Given the description of an element on the screen output the (x, y) to click on. 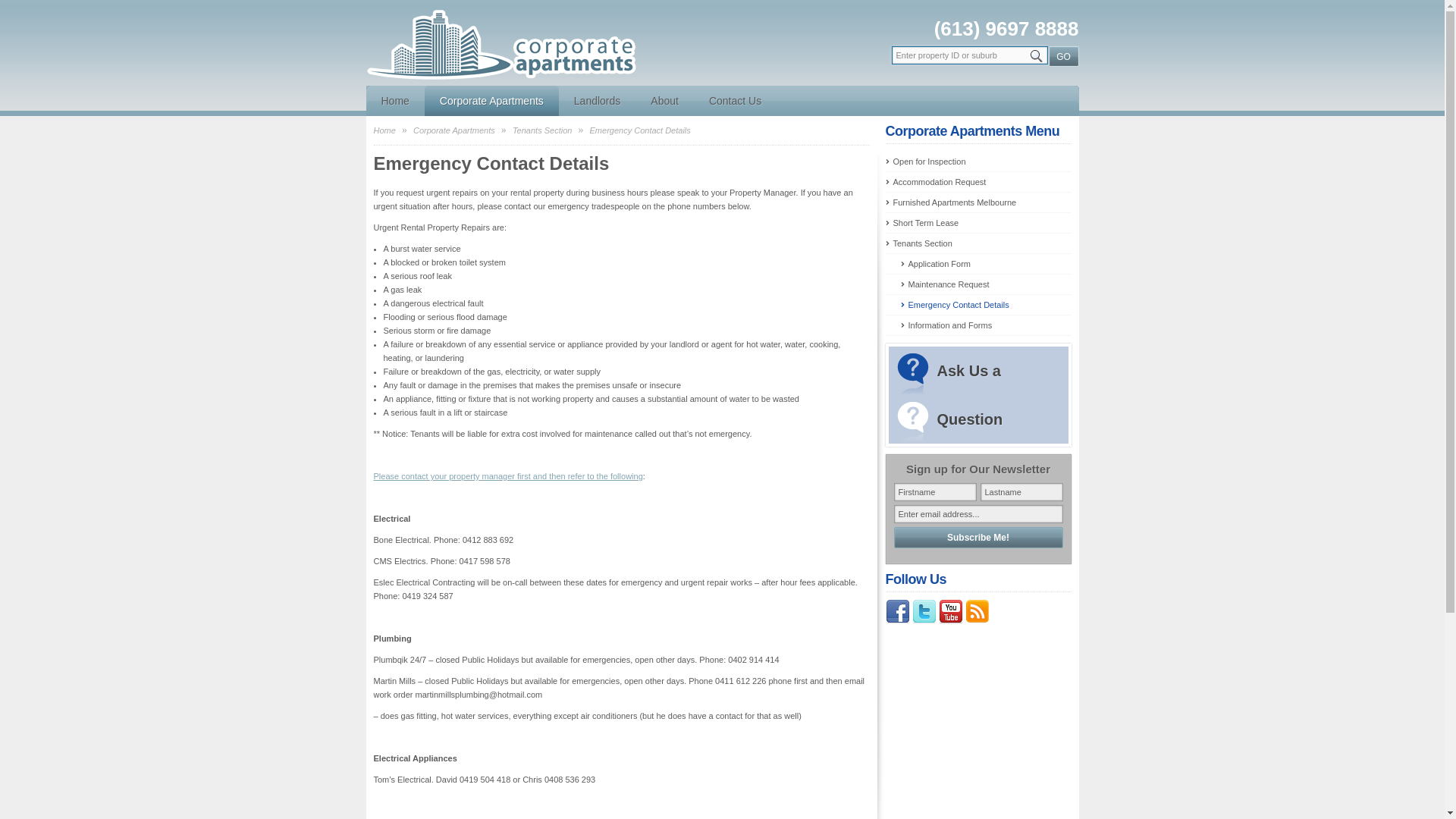
Firstname Element type: text (934, 492)
GO Element type: text (1063, 56)
Short Term Lease Element type: text (978, 222)
Application Form Element type: text (985, 263)
Subscribe Me! Element type: text (977, 537)
Tenants Section Element type: text (978, 243)
Open for Inspection Element type: text (978, 161)
Maintenance Request Element type: text (985, 284)
Corporate Apartments Element type: text (454, 129)
About Element type: text (664, 100)
Furnished Apartments Melbourne Element type: text (978, 202)
Ask Us a Question Element type: text (978, 394)
Corporate Apartments - Melbourne Corporate Leasing Element type: hover (502, 79)
Contact Us Element type: text (734, 100)
Corporate Apartments Element type: text (491, 100)
Information and Forms Element type: text (985, 325)
Lastname Element type: text (1020, 492)
Tenants Section Element type: text (541, 129)
Accommodation Request Element type: text (978, 181)
Emergency Contact Details Element type: text (985, 304)
Landlords Element type: text (597, 100)
Enter email address... Element type: text (977, 514)
Home Element type: text (384, 129)
Home Element type: text (394, 100)
